Given the description of an element on the screen output the (x, y) to click on. 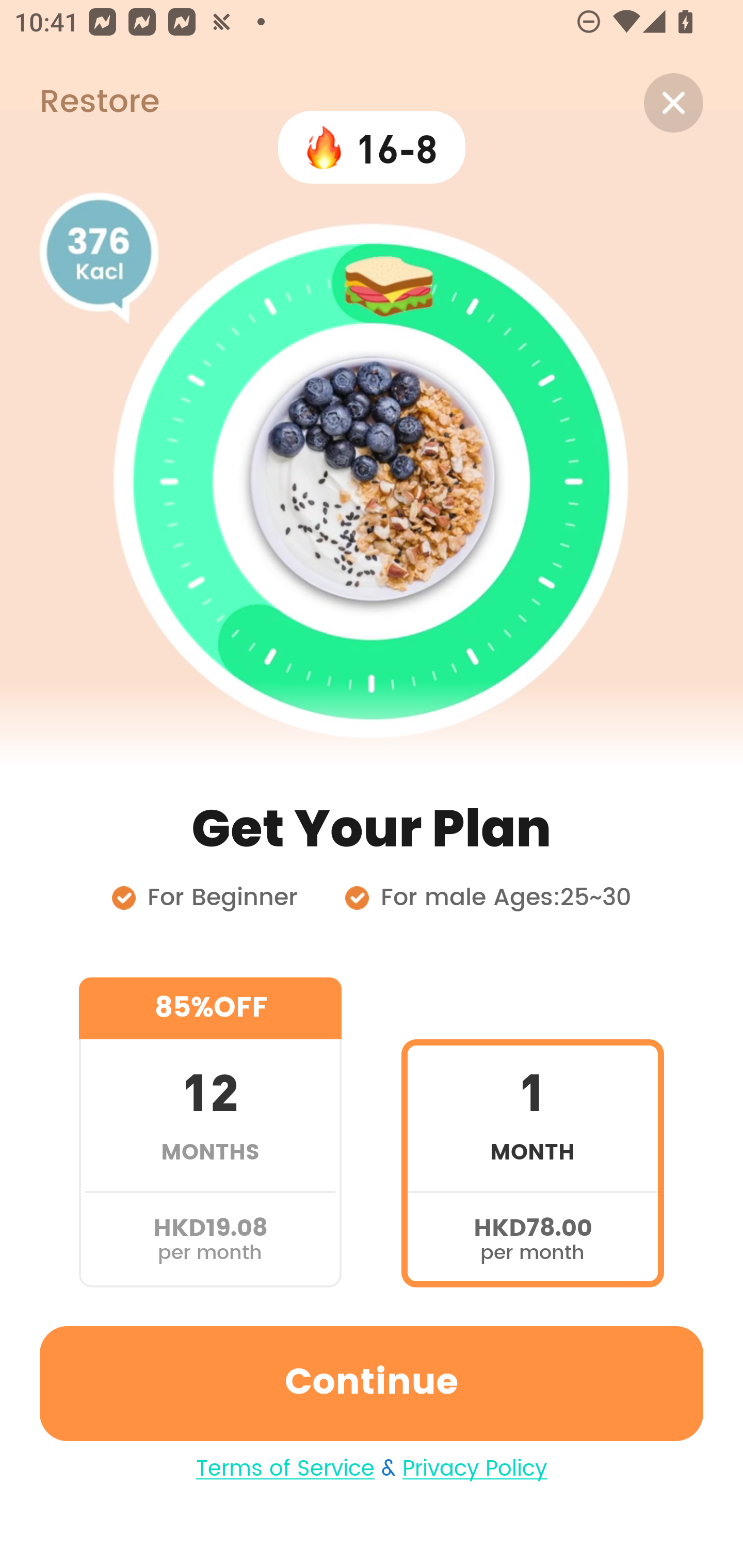
Restore (79, 102)
85%OFF 12 MONTHS per month HKD19.08 (209, 1131)
1 MONTH per month HKD78.00 (532, 1131)
Continue (371, 1383)
